Given the description of an element on the screen output the (x, y) to click on. 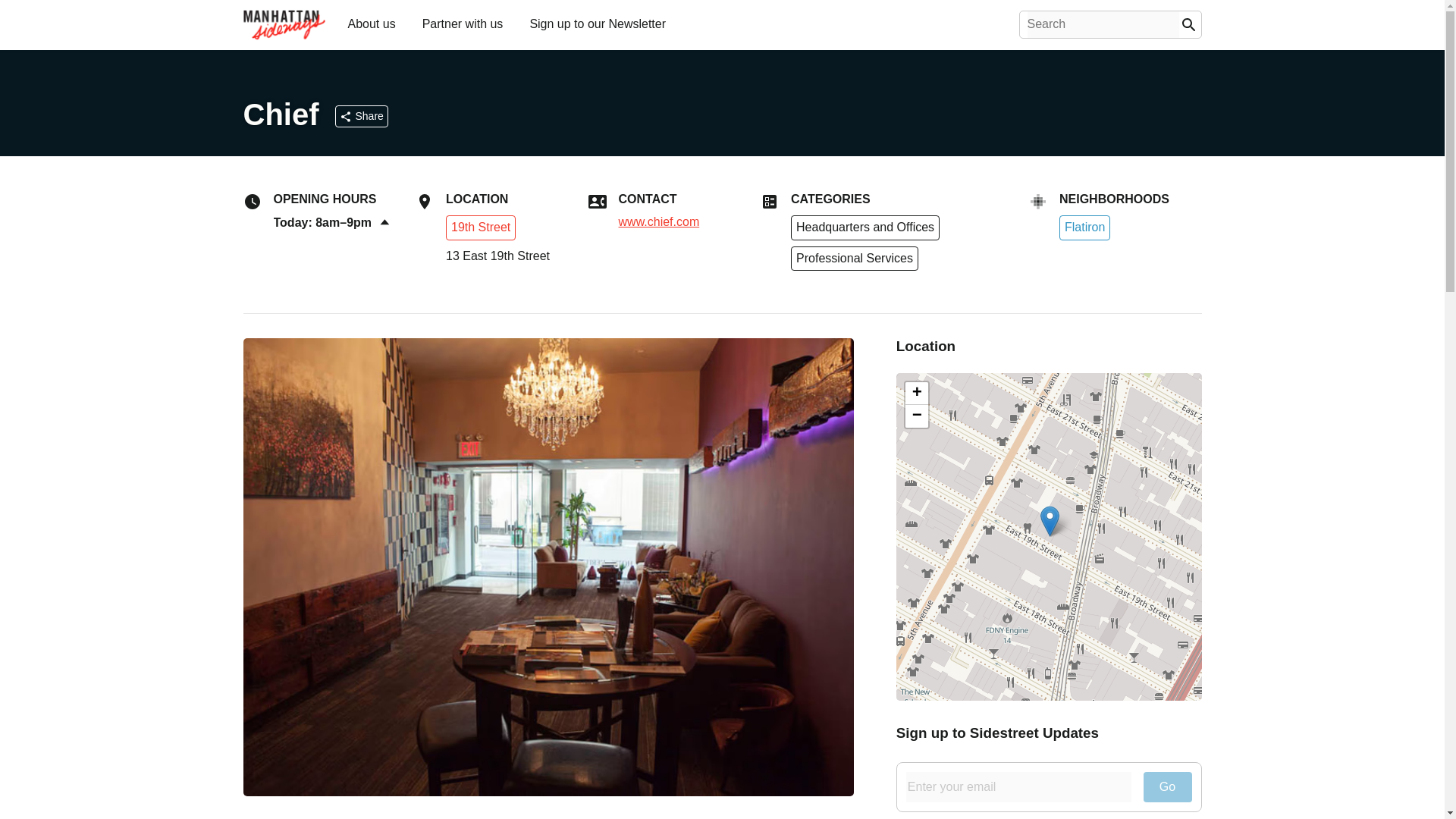
Zoom out (916, 415)
Partner with us (462, 23)
19th Street (480, 226)
Professional Services (854, 258)
Zoom in (916, 393)
About us (371, 23)
Go (1167, 787)
19th Street (480, 227)
www.chief.com (659, 222)
Share (361, 115)
Headquarters and Offices (864, 227)
Flatiron (1084, 227)
Sign up to our Newsletter (596, 23)
